Given the description of an element on the screen output the (x, y) to click on. 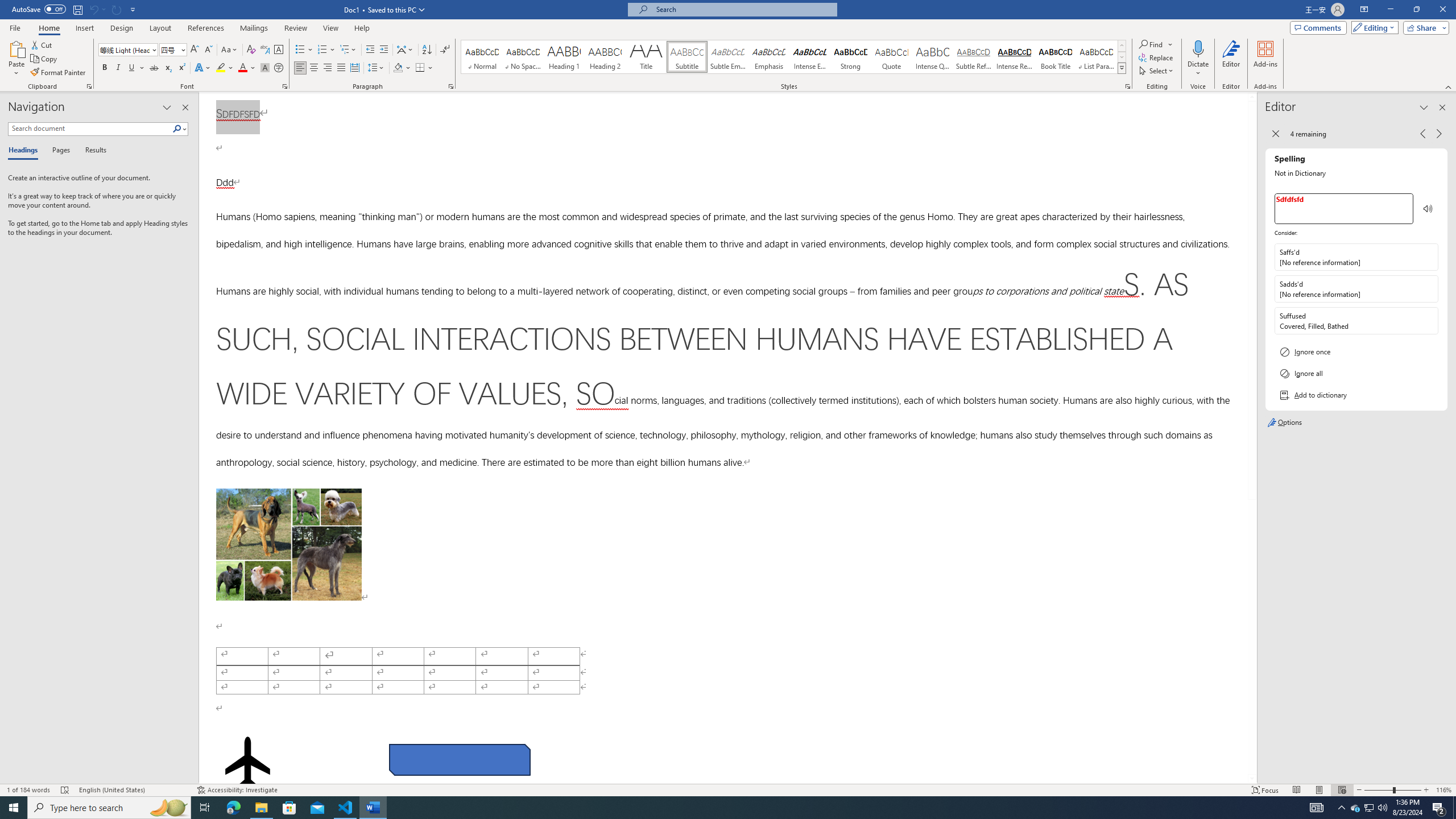
Strikethrough (154, 67)
Language English (United States) (132, 790)
Text Highlight Color (224, 67)
Heading 1 (564, 56)
Review (295, 28)
Book Title (1055, 56)
Styles (1121, 67)
Shading (402, 67)
Quick Access Toolbar (74, 9)
AutoSave (38, 9)
Paste (16, 48)
Show/Hide Editing Marks (444, 49)
Design (122, 28)
Search document (89, 128)
